Given the description of an element on the screen output the (x, y) to click on. 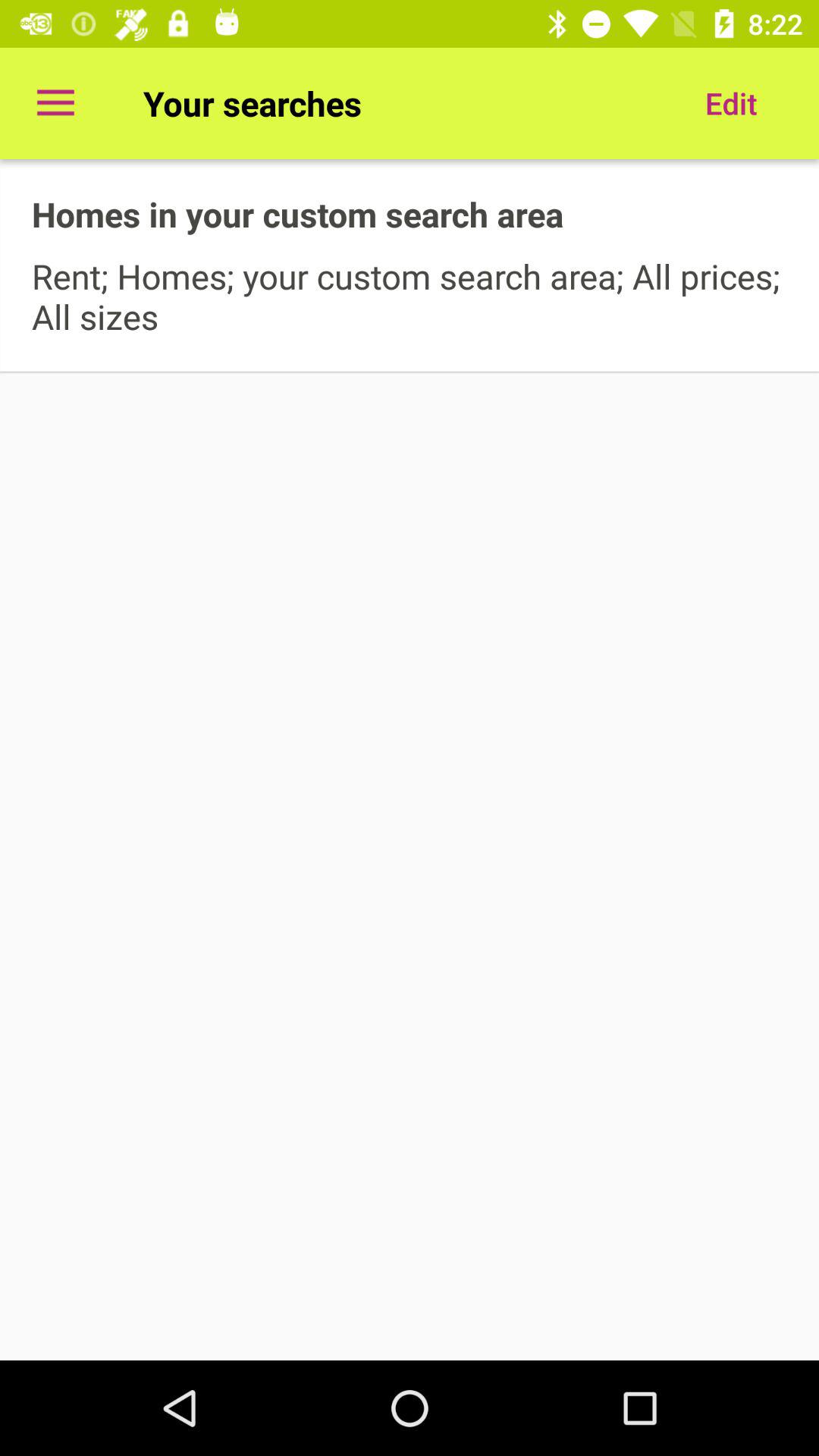
tap icon next to the your searches item (55, 103)
